Given the description of an element on the screen output the (x, y) to click on. 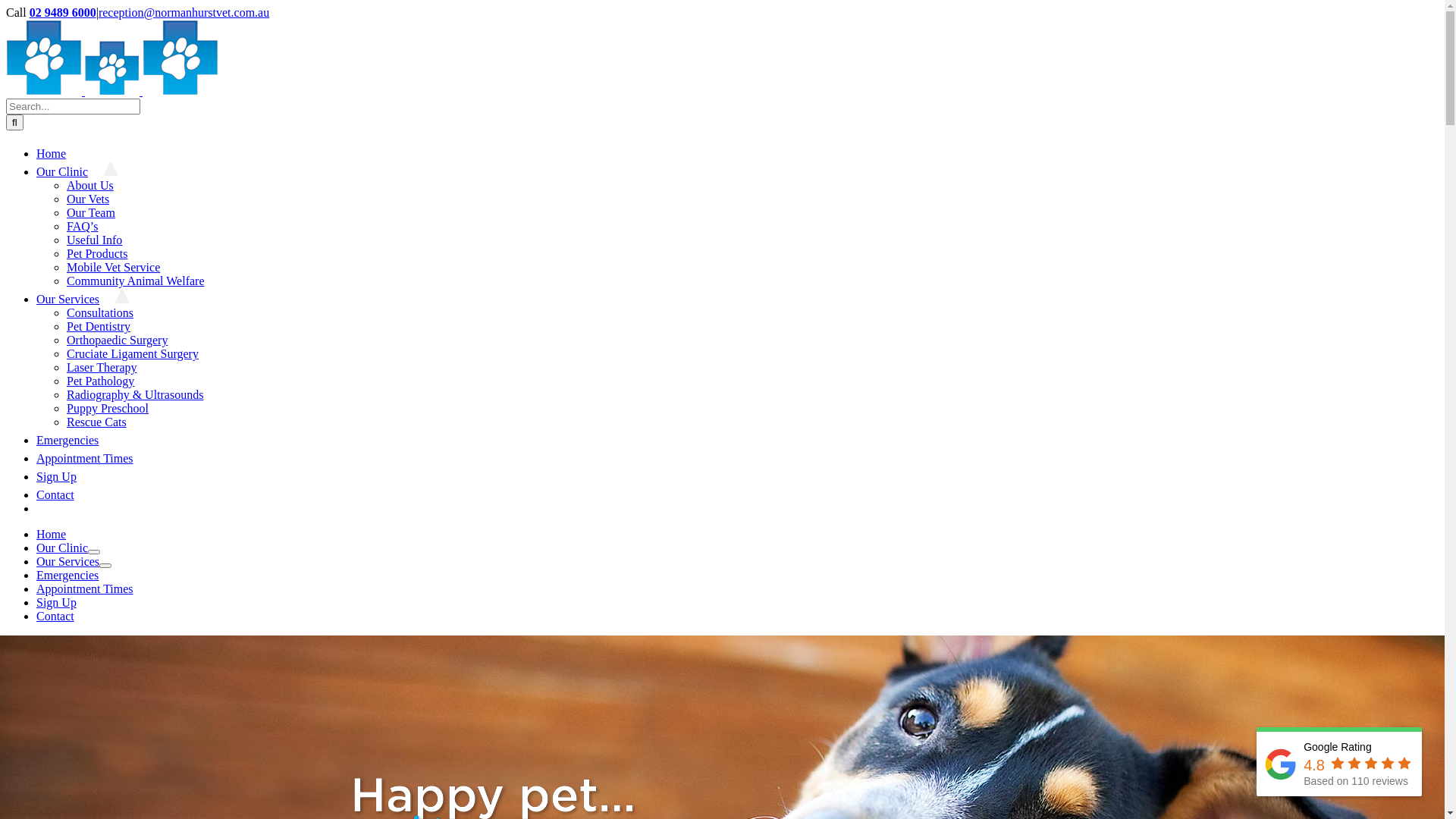
Rescue Cats Element type: text (96, 421)
Mobile Vet Service Element type: text (113, 266)
02 9489 6000 Element type: text (62, 12)
reception@normanhurstvet.com.au Element type: text (183, 12)
Orthopaedic Surgery Element type: text (116, 339)
Our Clinic Element type: text (61, 547)
Laser Therapy Element type: text (101, 366)
Our Services Element type: text (67, 561)
Puppy Preschool Element type: text (107, 407)
Community Animal Welfare Element type: text (135, 280)
Pet Pathology Element type: text (100, 380)
Emergencies Element type: text (74, 439)
Pet Dentistry Element type: text (98, 326)
Radiography & Ultrasounds Element type: text (134, 394)
About Us Element type: text (89, 184)
Cruciate Ligament Surgery Element type: text (132, 353)
Home Element type: text (58, 153)
Our Vets Element type: text (87, 198)
Sign Up Element type: text (56, 602)
Our Services Element type: text (82, 298)
Contact Element type: text (55, 615)
Consultations Element type: text (99, 312)
Emergencies Element type: text (67, 574)
Our Clinic Element type: text (77, 171)
Sign Up Element type: text (63, 476)
Skip to content Element type: text (5, 5)
Appointment Times Element type: text (84, 588)
Contact Element type: text (62, 494)
Our Team Element type: text (90, 212)
Useful Info Element type: text (94, 239)
Home Element type: text (50, 533)
Appointment Times Element type: text (92, 457)
Pet Products Element type: text (96, 253)
